Given the description of an element on the screen output the (x, y) to click on. 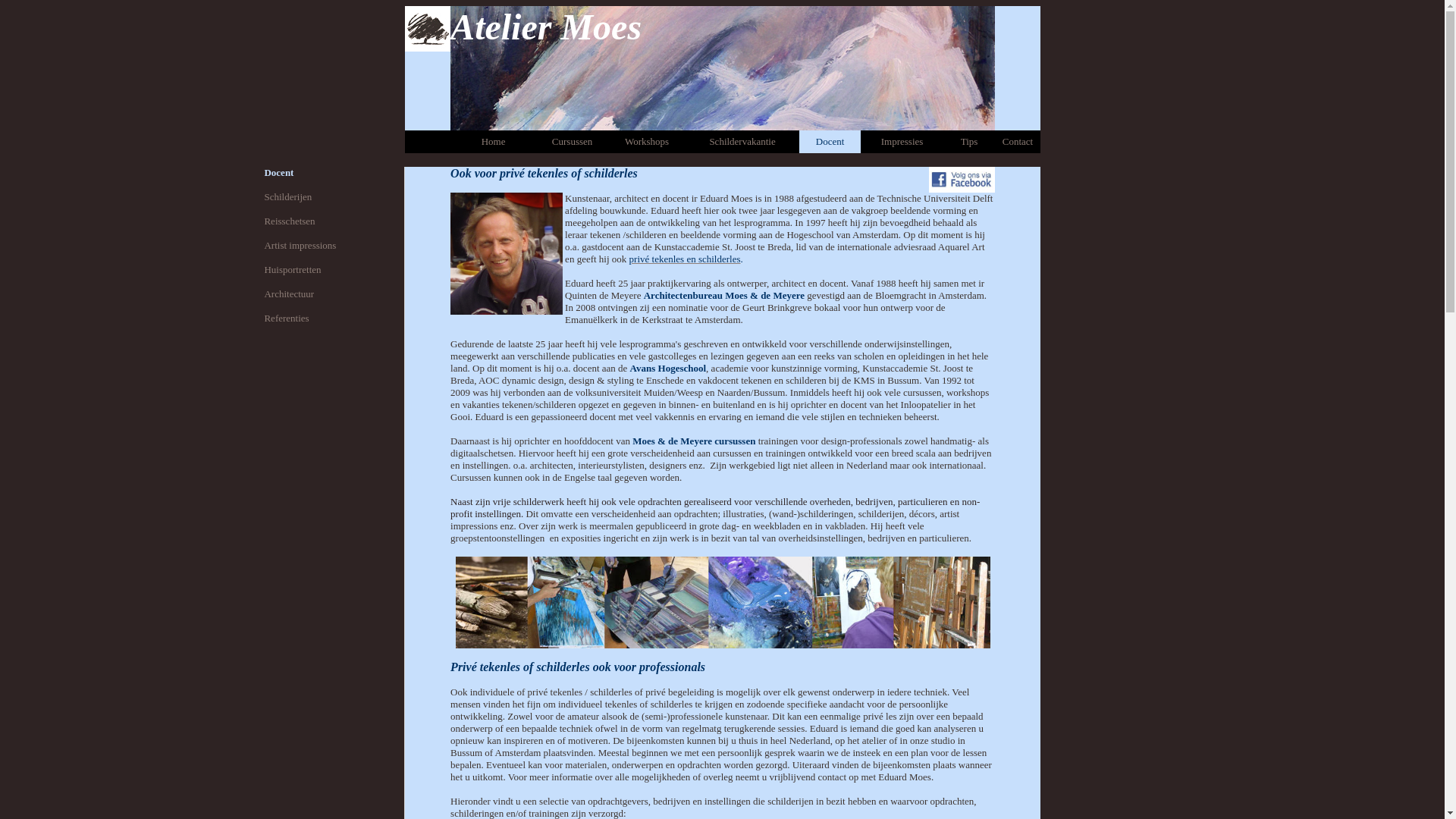
Reisschetsen Element type: text (288, 220)
Docent Element type: text (278, 172)
Moes & de Meyere cursussen Element type: text (693, 440)
Tips Element type: text (969, 140)
Architectenbureau Element type: text (682, 295)
Contact Element type: text (1017, 141)
Huisportretten Element type: text (291, 269)
Cursussen Element type: text (572, 141)
Moes & de Meyere Element type: text (764, 295)
Schilderijen Element type: text (287, 196)
Architectuur Element type: text (288, 293)
Impressies Element type: text (902, 141)
Referenties Element type: text (285, 317)
Avans Hogeschool Element type: text (668, 367)
Home Element type: text (493, 141)
Docent Element type: text (829, 141)
Schildervakantie Element type: text (742, 141)
Workshops Element type: text (646, 141)
Artist impressions Element type: text (299, 245)
